Given the description of an element on the screen output the (x, y) to click on. 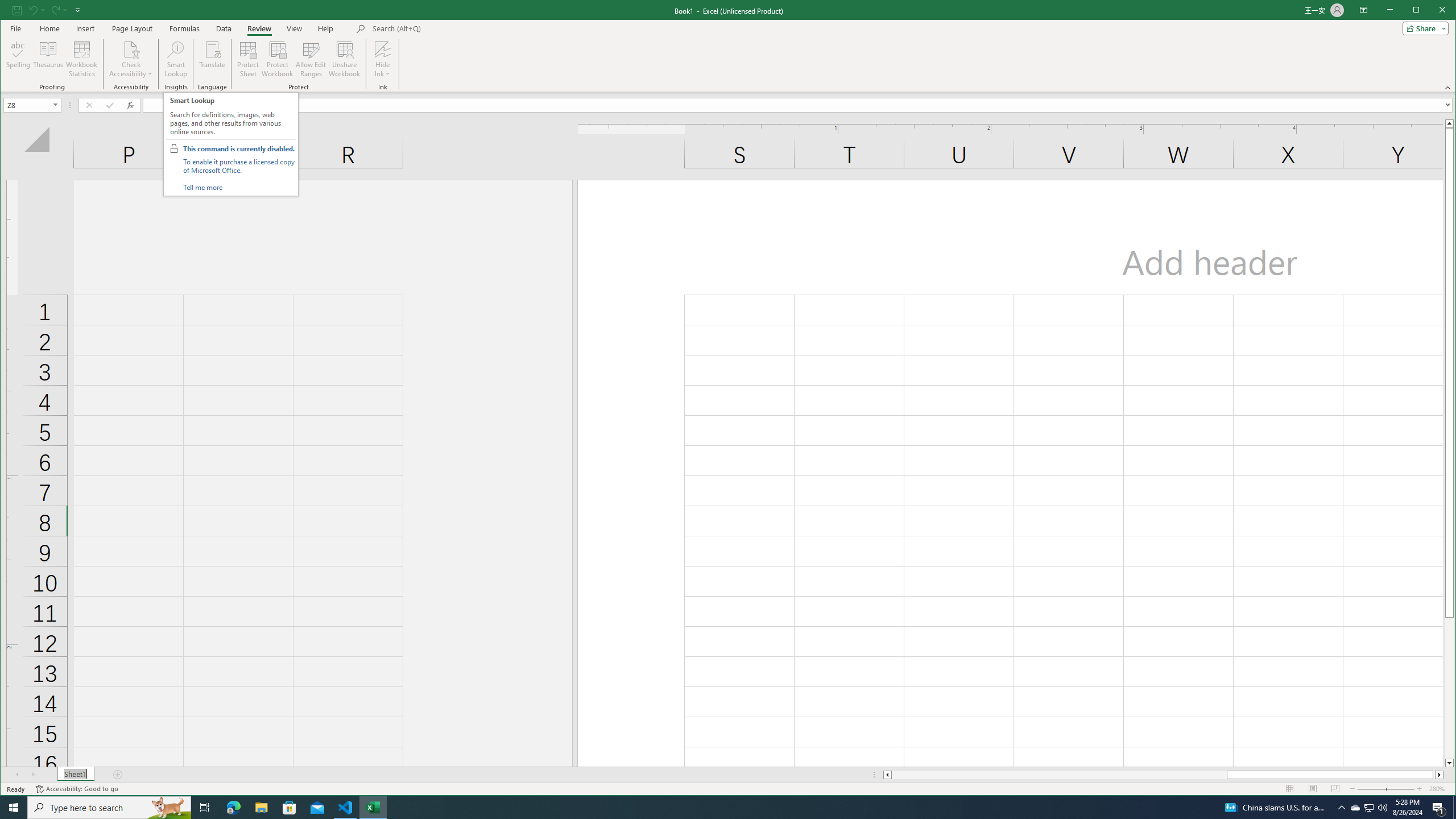
Protect Workbook... (277, 59)
Zoom In (1419, 788)
Sheet Tab (75, 774)
Insert (85, 28)
Scroll Left (18, 774)
View (294, 28)
Help (325, 28)
Unshare Workbook (344, 59)
Home (49, 28)
Data (223, 28)
Zoom (1384, 788)
